Given the description of an element on the screen output the (x, y) to click on. 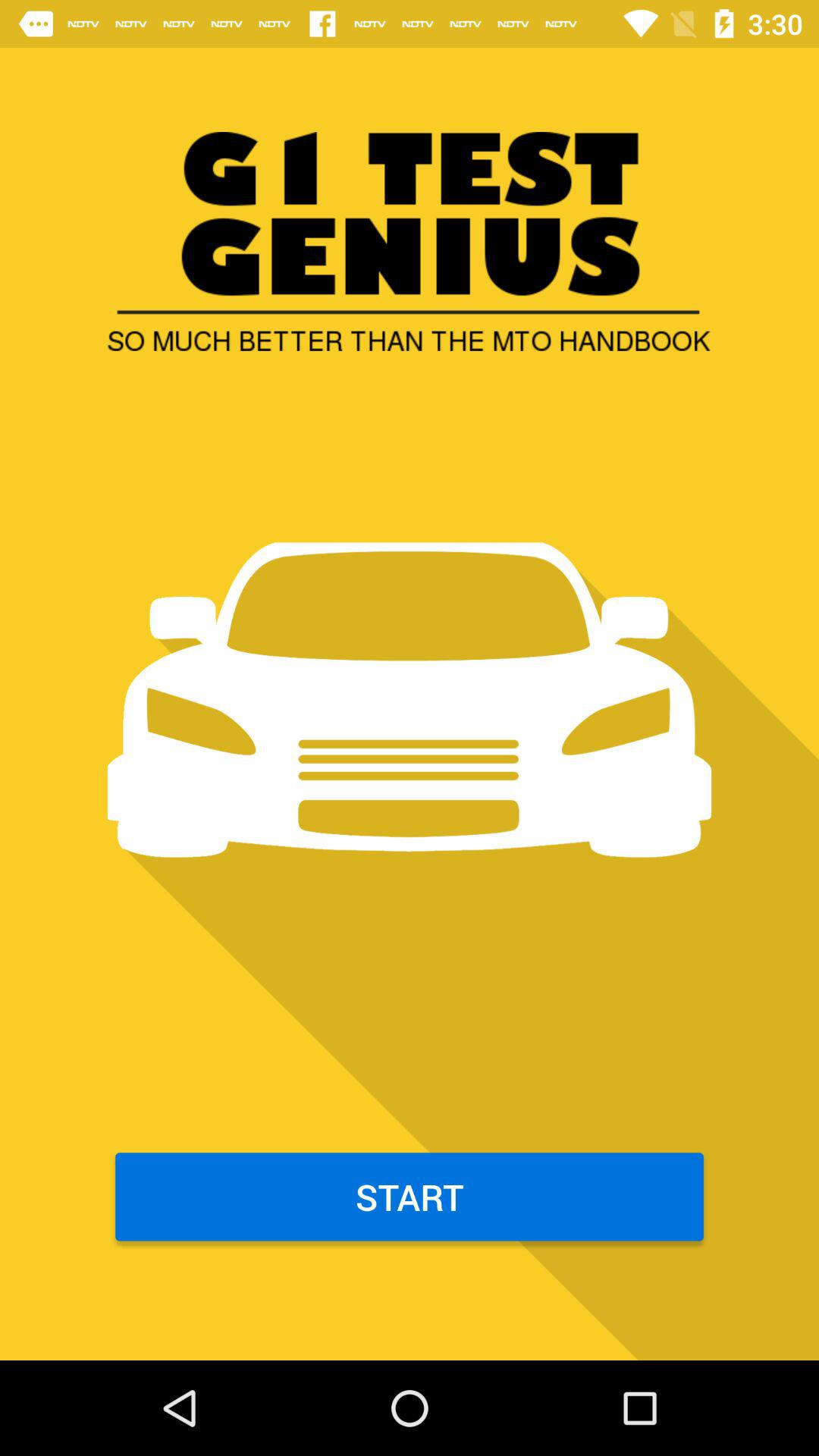
press the start (409, 1196)
